Given the description of an element on the screen output the (x, y) to click on. 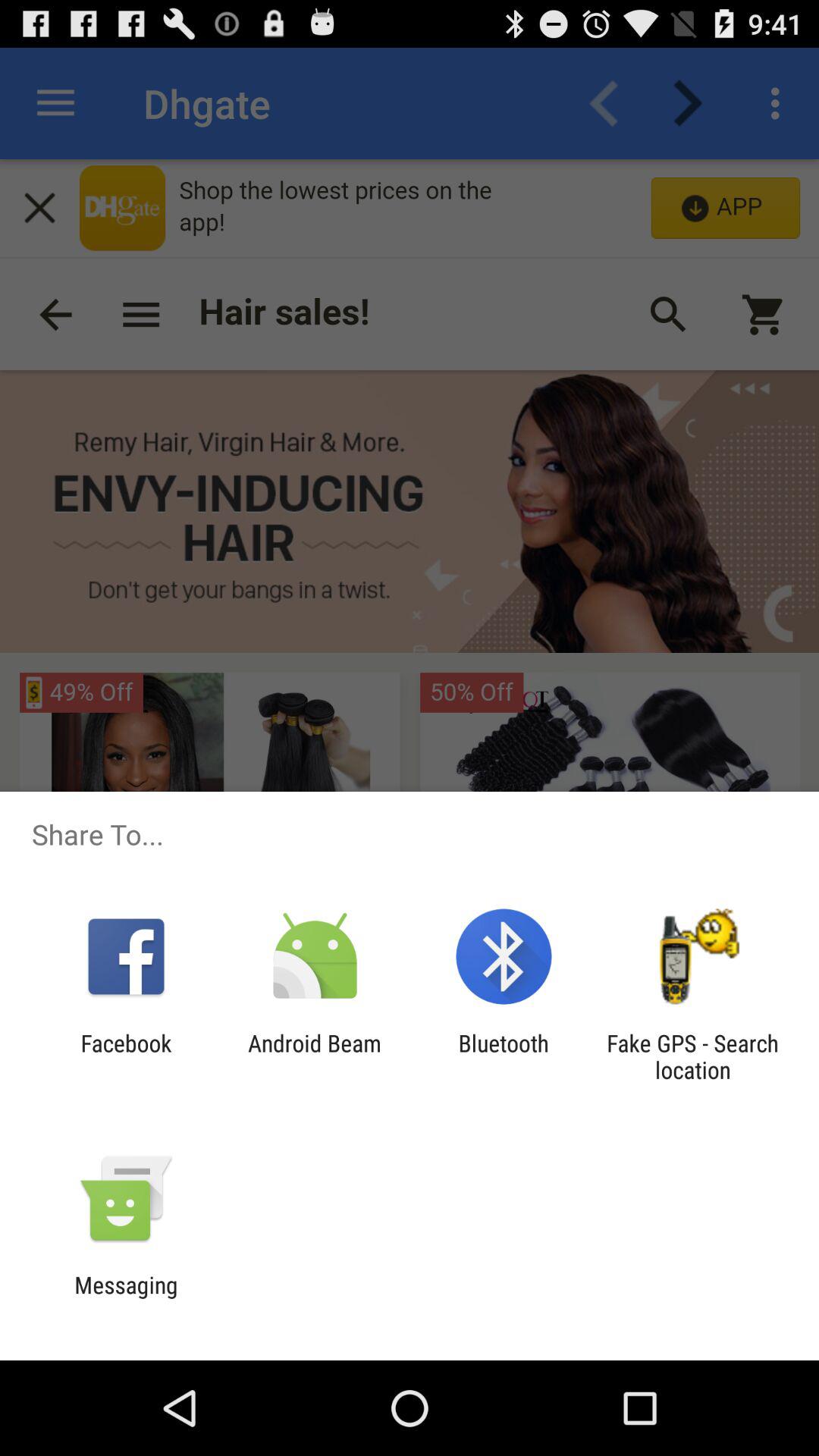
choose app next to facebook icon (314, 1056)
